Given the description of an element on the screen output the (x, y) to click on. 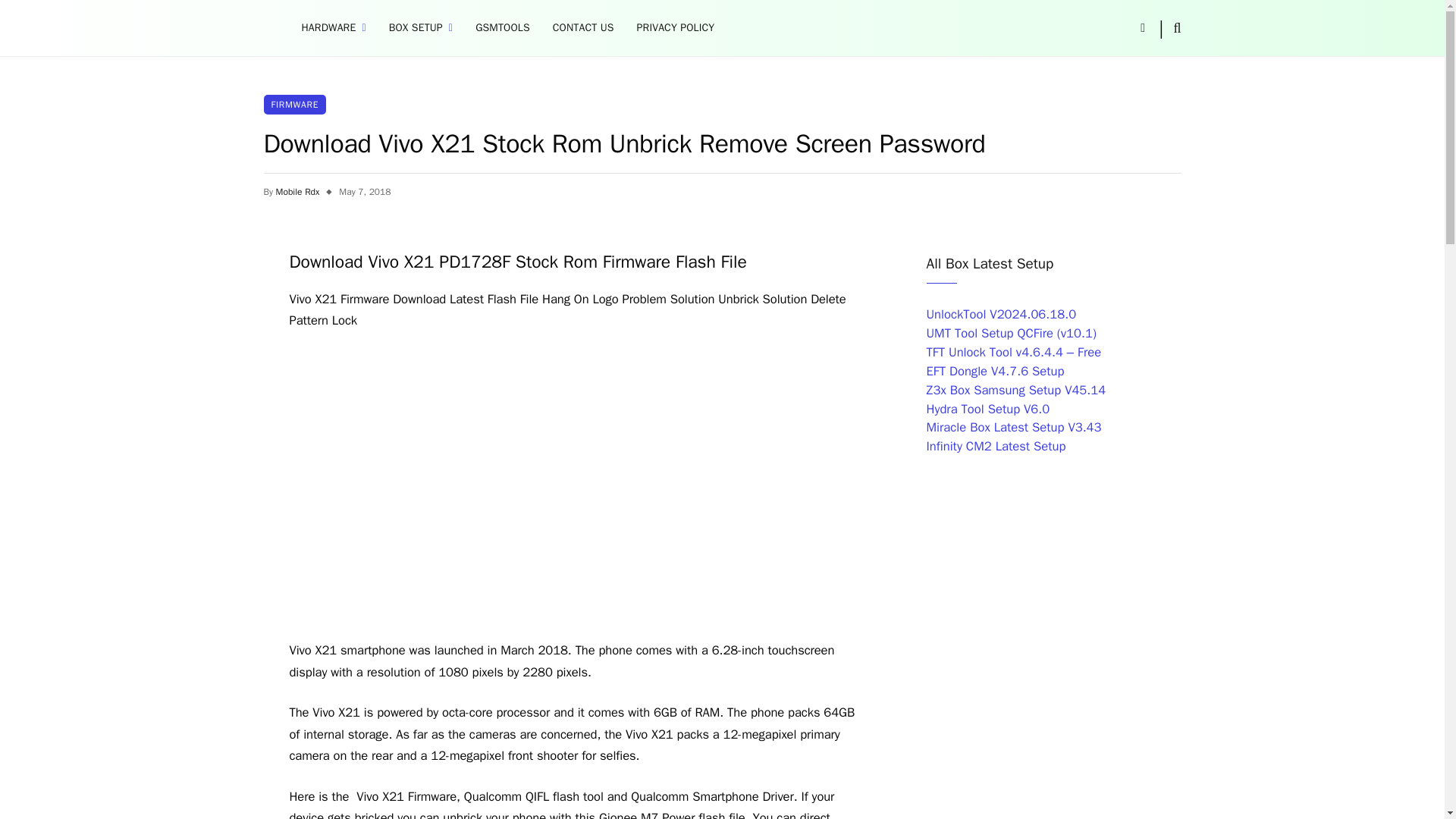
FIRMWARE (294, 104)
BOX SETUP (420, 28)
Switch to Dark Design - easier on eyes. (1142, 28)
Mobile Rdx (298, 191)
HARDWARE (333, 28)
Posts by Mobile Rdx (298, 191)
Search (1175, 27)
GSMTOOLS (502, 28)
CONTACT US (583, 28)
Download Vivo X21 Stock Rom (497, 485)
PRIVACY POLICY (676, 28)
